Given the description of an element on the screen output the (x, y) to click on. 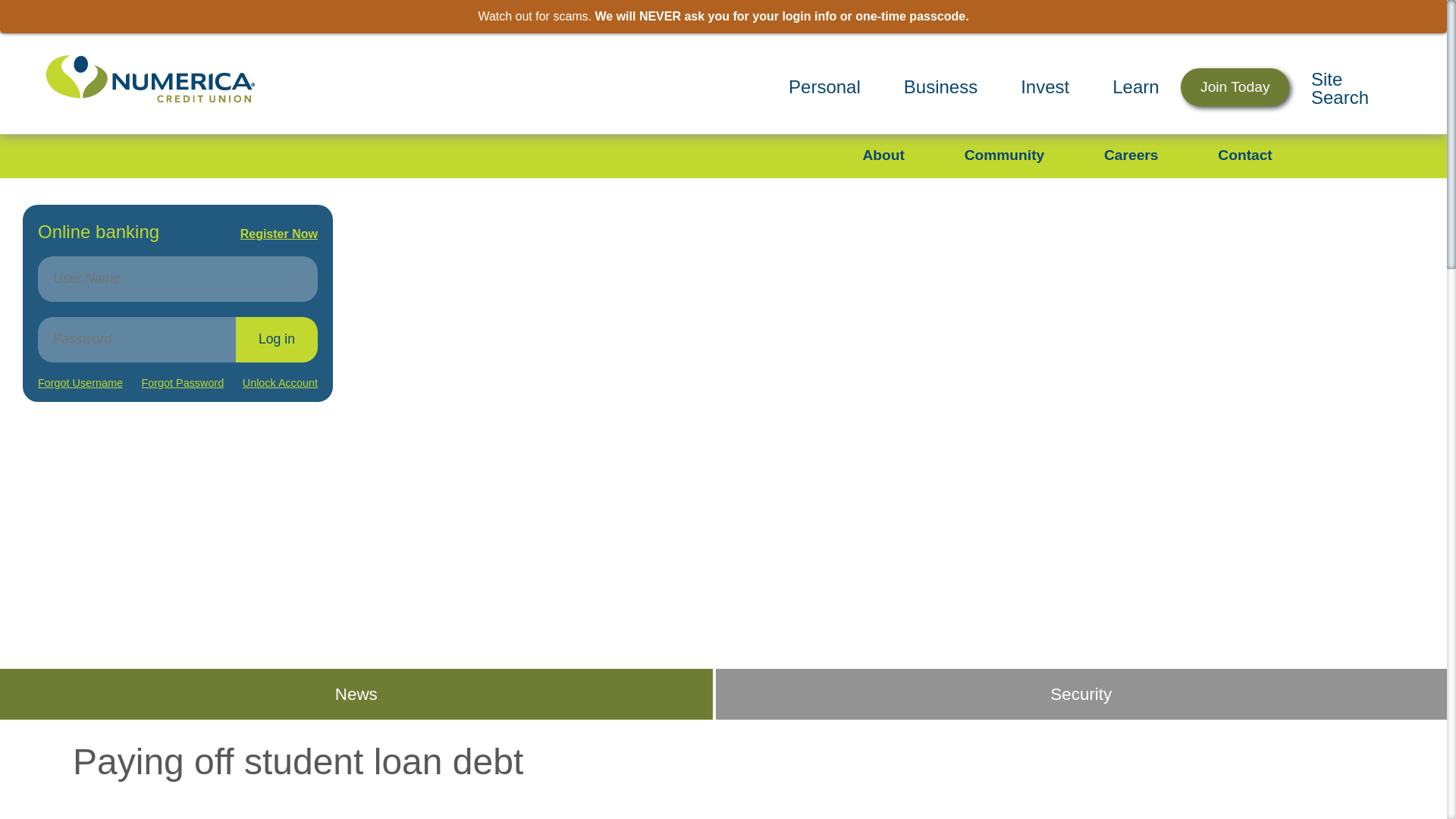
Invest (1044, 86)
Business (940, 86)
About (882, 154)
Community (1004, 154)
Join Today (1234, 87)
Site Search (1355, 87)
Learn (1135, 86)
Personal (824, 86)
Contact (1244, 154)
Careers (1130, 154)
